Given the description of an element on the screen output the (x, y) to click on. 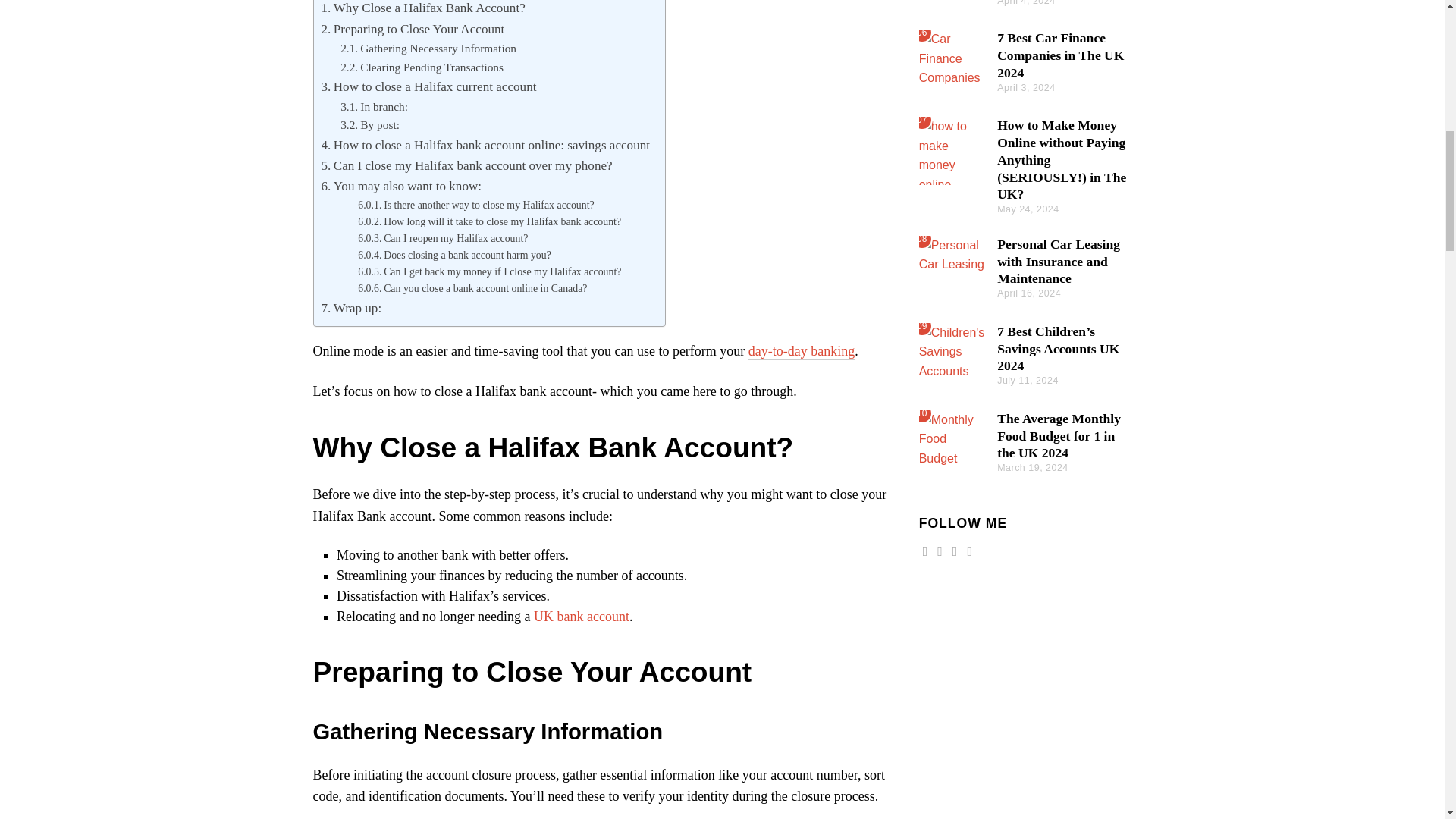
In branch: (373, 106)
How to close a Halifax bank account online: savings account (485, 145)
By post: (369, 125)
Can I close my Halifax bank account over my phone? (466, 165)
Does closing a bank account harm you? (454, 255)
Why Close a Halifax Bank Account? (423, 9)
Why Close a Halifax Bank Account? (423, 9)
Preparing to Close Your Account (413, 28)
Is there another way to close my Halifax account? (476, 205)
How long will it take to close my Halifax bank account? (489, 221)
Gathering Necessary Information (428, 48)
In branch: (373, 106)
Clearing Pending Transactions (421, 67)
How to close a Halifax current account (429, 86)
You may also want to know: (401, 186)
